Given the description of an element on the screen output the (x, y) to click on. 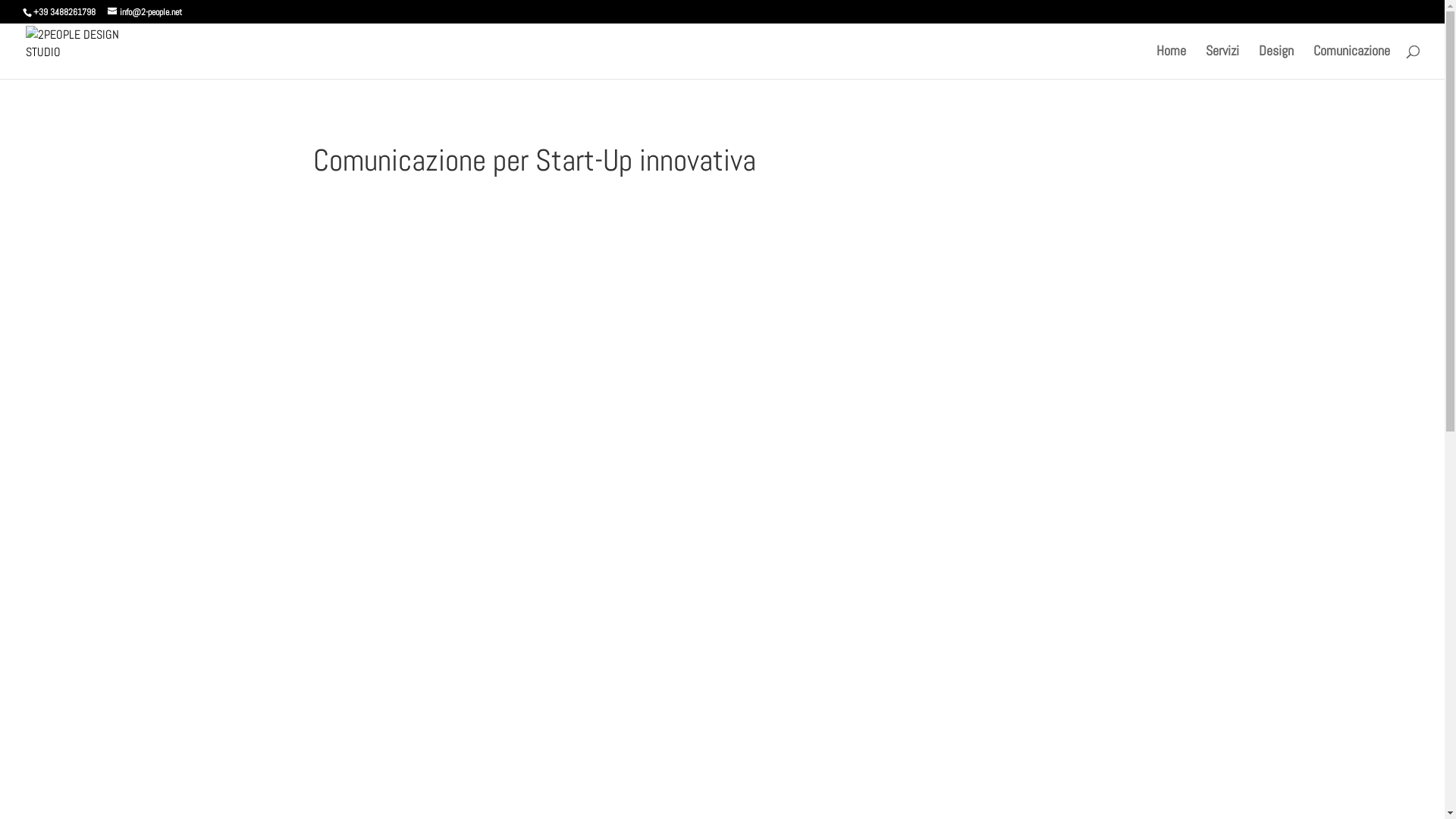
Servizi Element type: text (1222, 61)
Design Element type: text (1275, 61)
info@2-people.net Element type: text (144, 12)
Comunicazione Element type: text (1351, 61)
Home Element type: text (1171, 61)
